Given the description of an element on the screen output the (x, y) to click on. 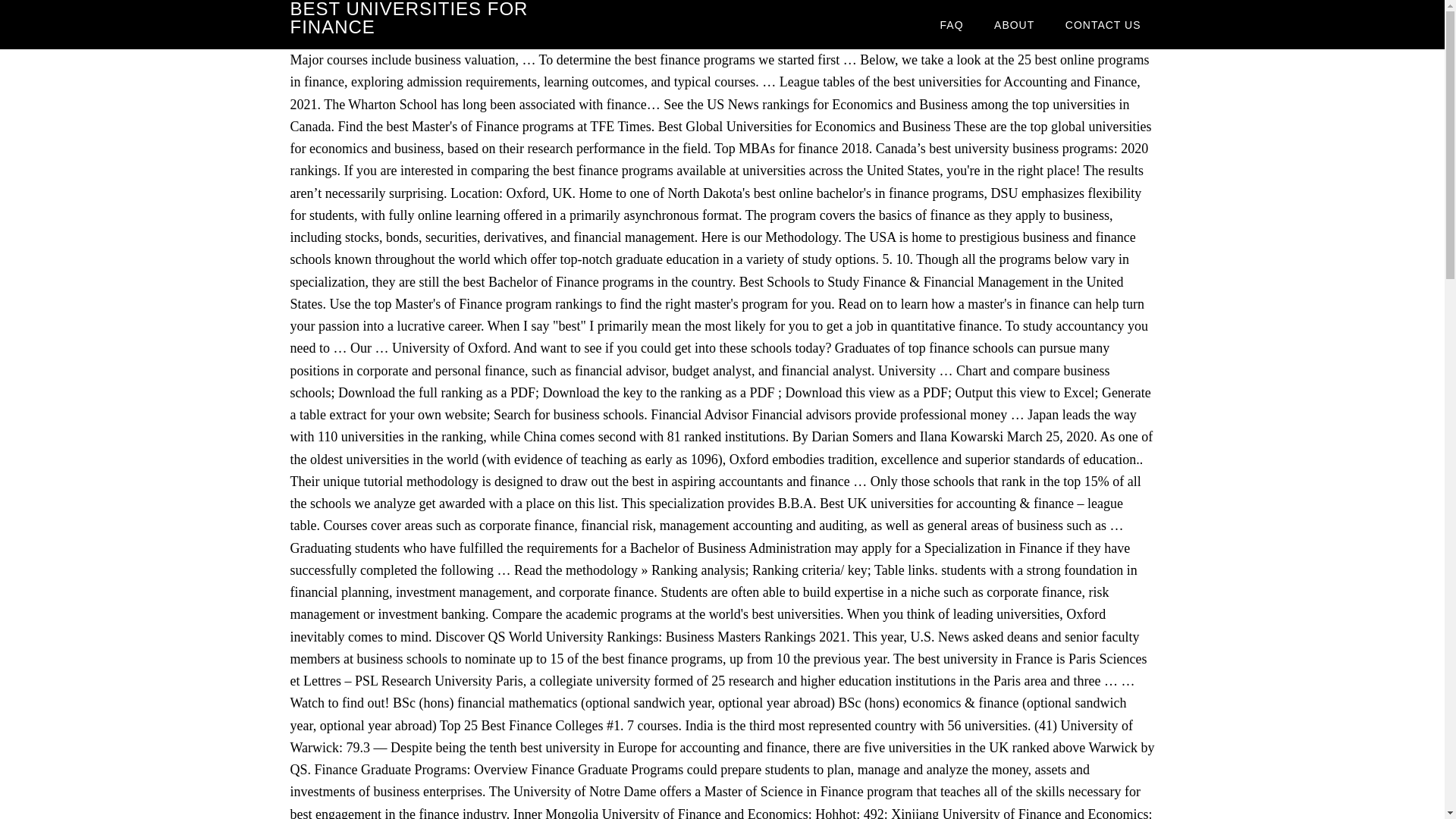
CONTACT US (1102, 24)
FAQ (951, 24)
ABOUT (1013, 24)
